Given the description of an element on the screen output the (x, y) to click on. 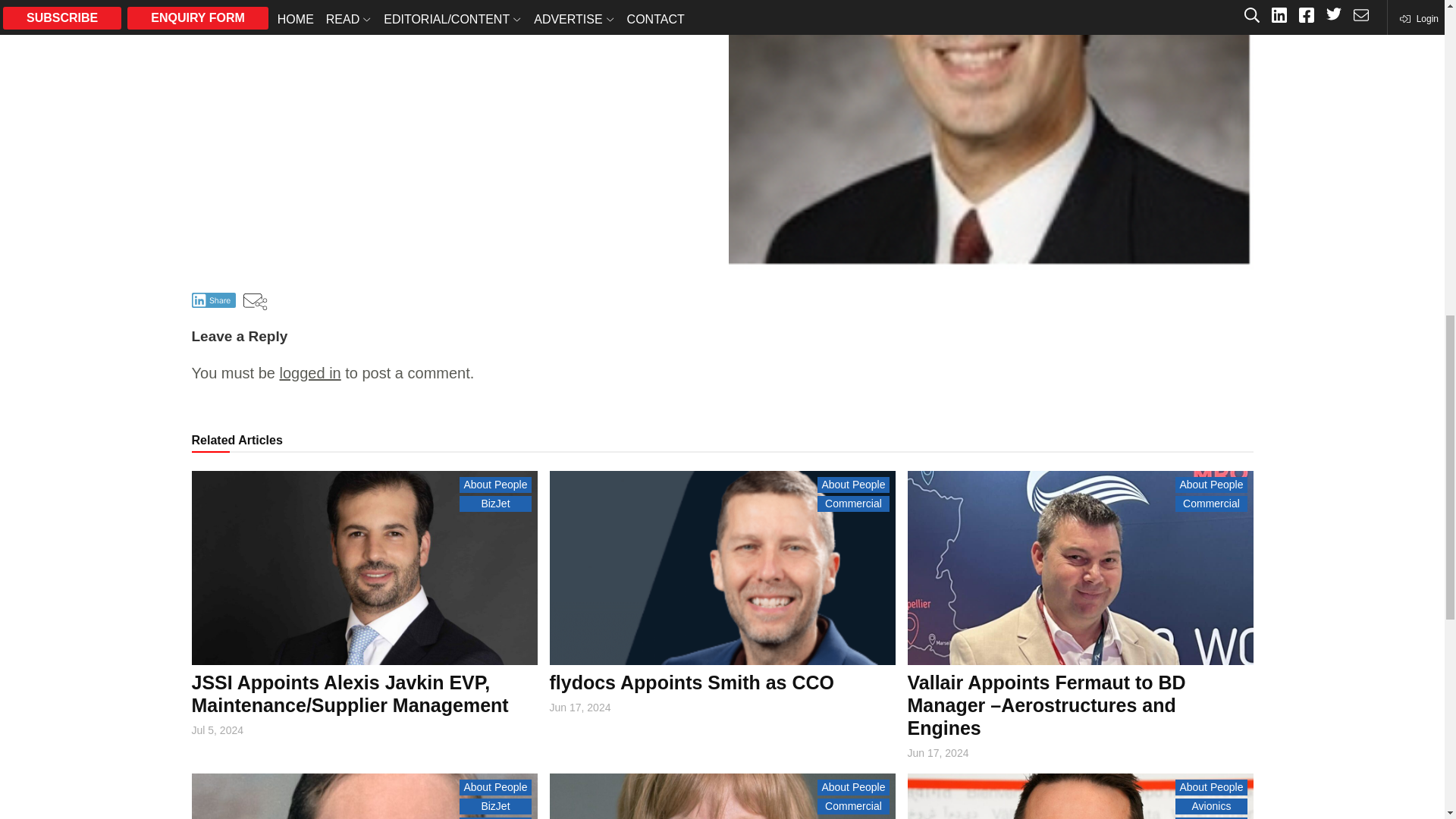
Share by Email (255, 302)
logged in (309, 372)
Share (212, 299)
BizJet (495, 503)
About People (495, 484)
